Given the description of an element on the screen output the (x, y) to click on. 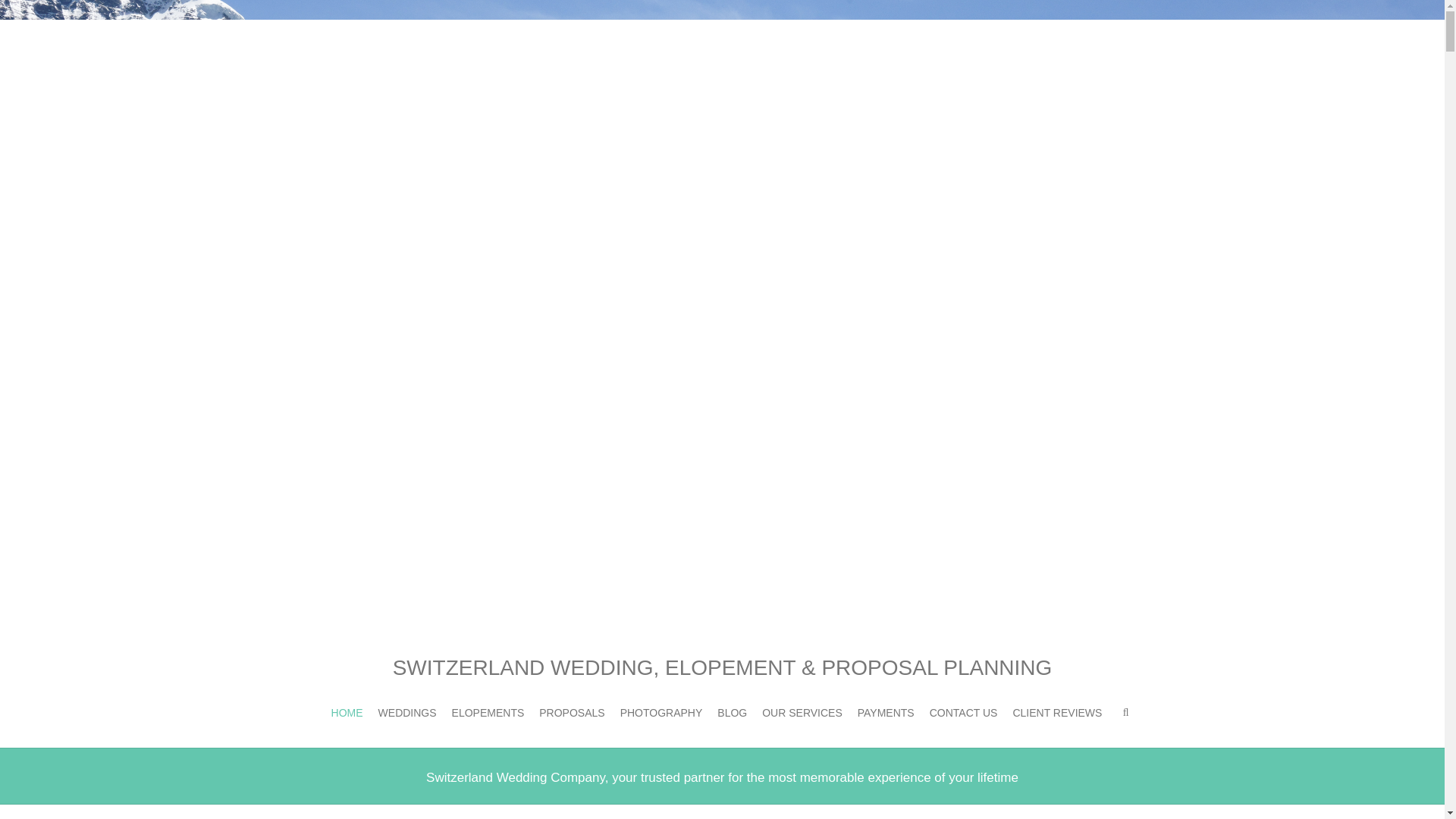
WEDDINGS (407, 712)
PAYMENTS (885, 712)
OUR SERVICES (802, 712)
CLIENT REVIEWS (1056, 712)
CONTACT US (963, 712)
ELOPEMENTS (487, 712)
PHOTOGRAPHY (661, 712)
PROPOSALS (571, 712)
